Given the description of an element on the screen output the (x, y) to click on. 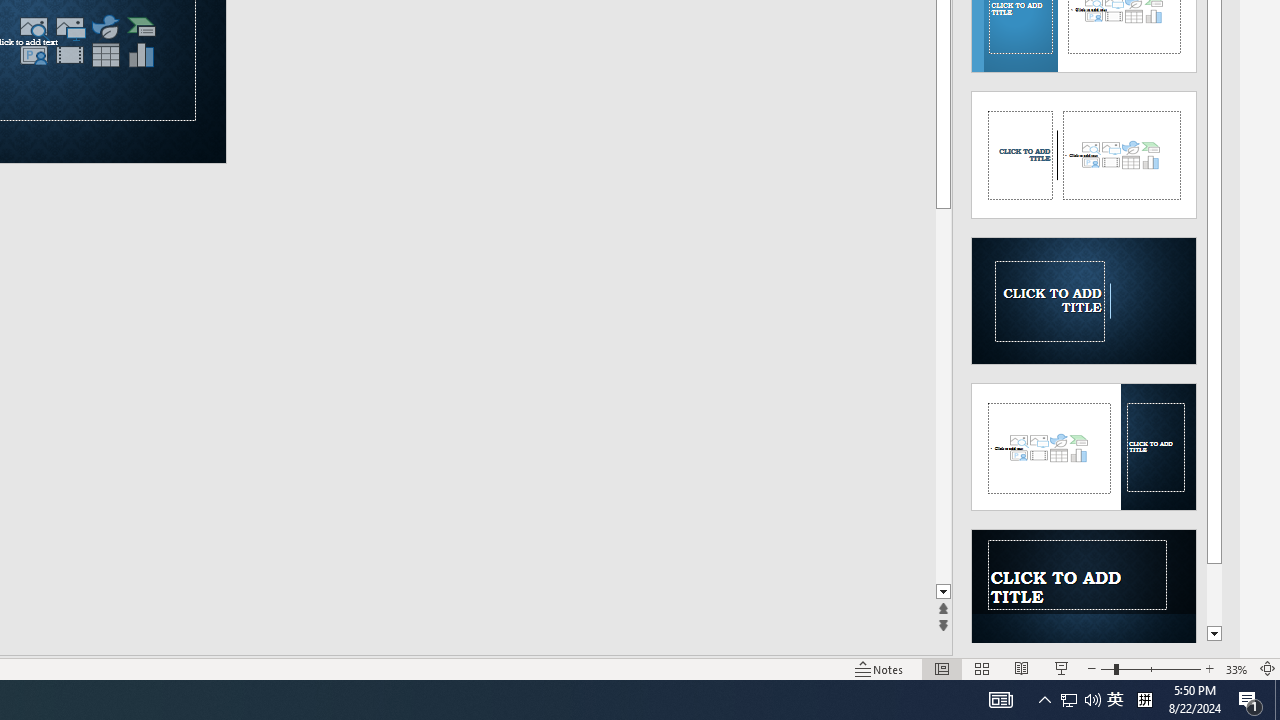
Insert Cameo (33, 55)
Stock Images (33, 26)
Insert Video (69, 55)
Zoom 33% (1236, 668)
Insert an Icon (105, 26)
